Given the description of an element on the screen output the (x, y) to click on. 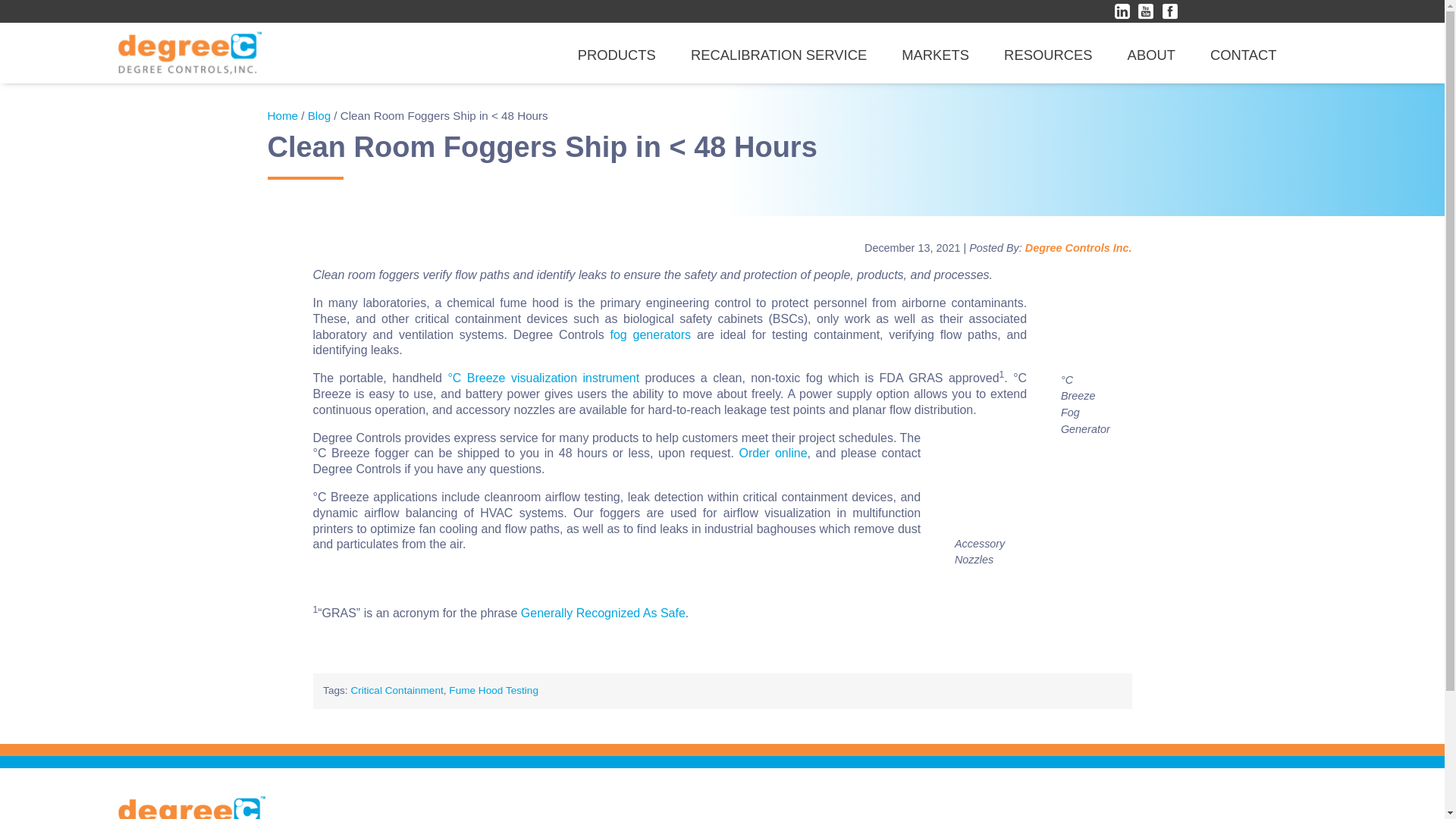
CONTACT (1242, 55)
Go to Blog. (318, 115)
Blog (318, 115)
RECALIBRATION SERVICE (778, 55)
Fume Hood Testing (493, 690)
Order online (772, 452)
PRODUCTS (617, 55)
Generally Recognized As Safe (603, 612)
Go to Degree Controls Inc. (282, 115)
RESOURCES (1048, 55)
fog generators (650, 334)
ABOUT (1150, 55)
Home (282, 115)
MARKETS (935, 55)
Critical Containment (396, 690)
